Given the description of an element on the screen output the (x, y) to click on. 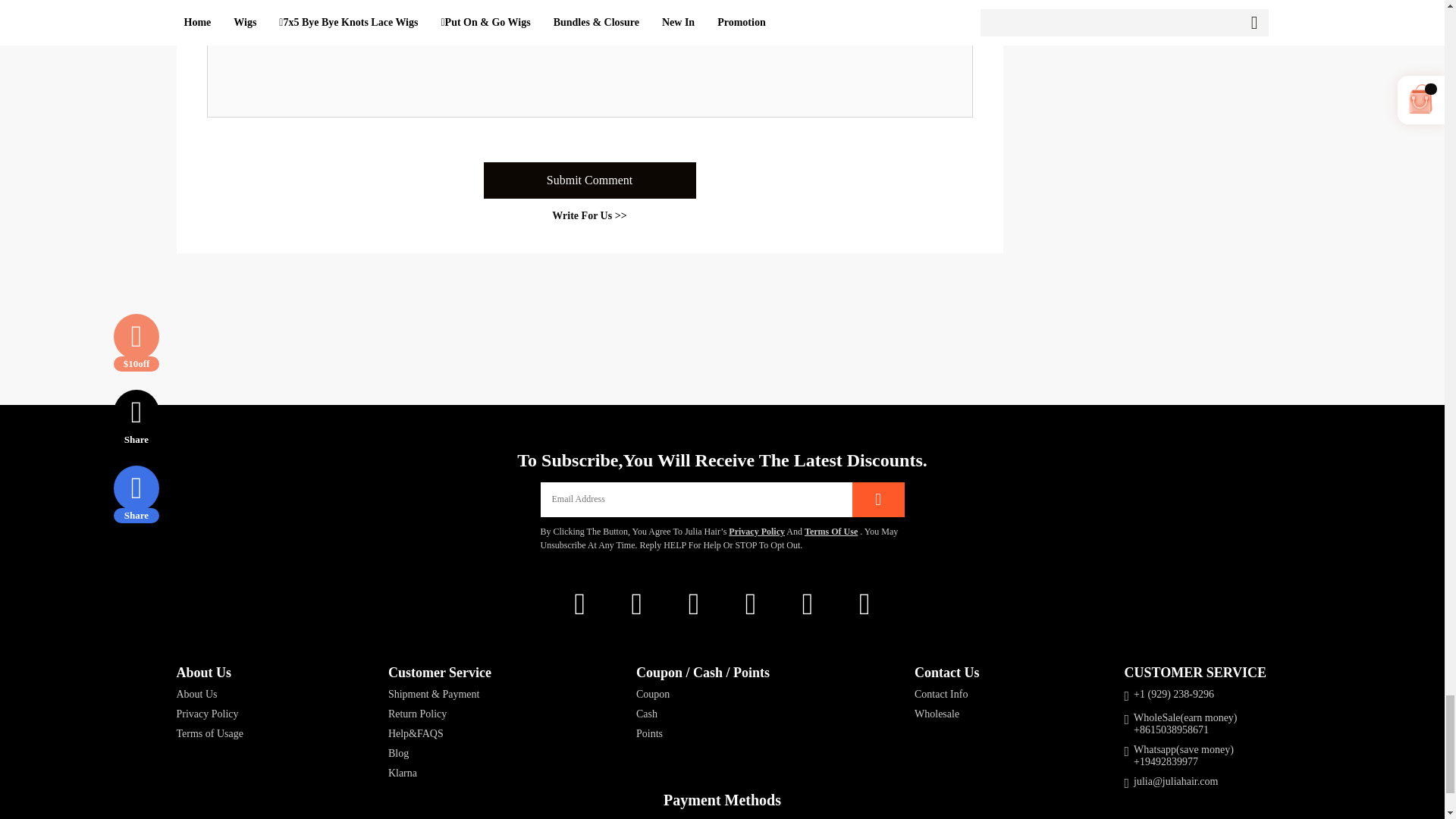
Points (703, 734)
Blog (440, 753)
Wholesale (946, 714)
Klarna (440, 773)
Privacy Policy (209, 714)
Cash (703, 714)
Contact Info (946, 694)
Return Policy (440, 714)
Coupon (703, 694)
Terms of Usage (209, 734)
